Given the description of an element on the screen output the (x, y) to click on. 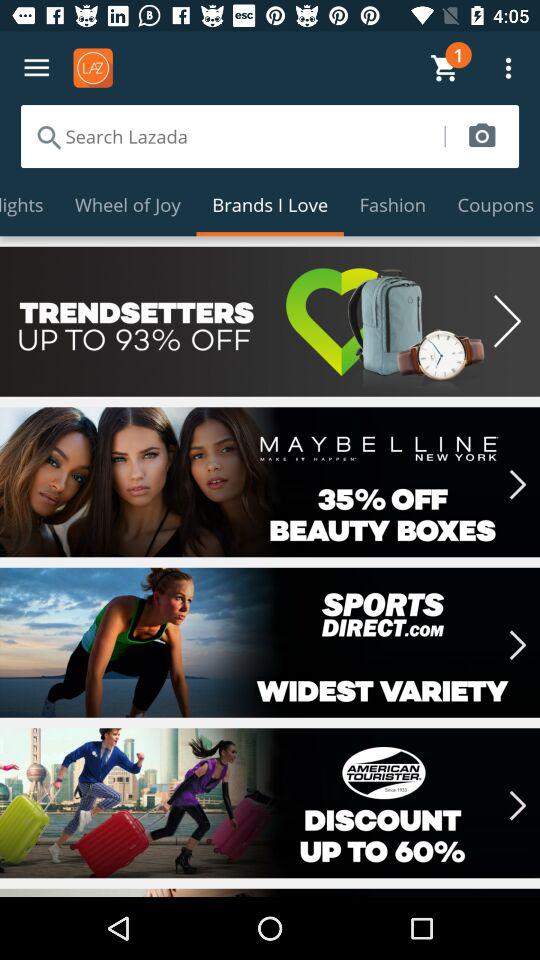
enter search (232, 136)
